Given the description of an element on the screen output the (x, y) to click on. 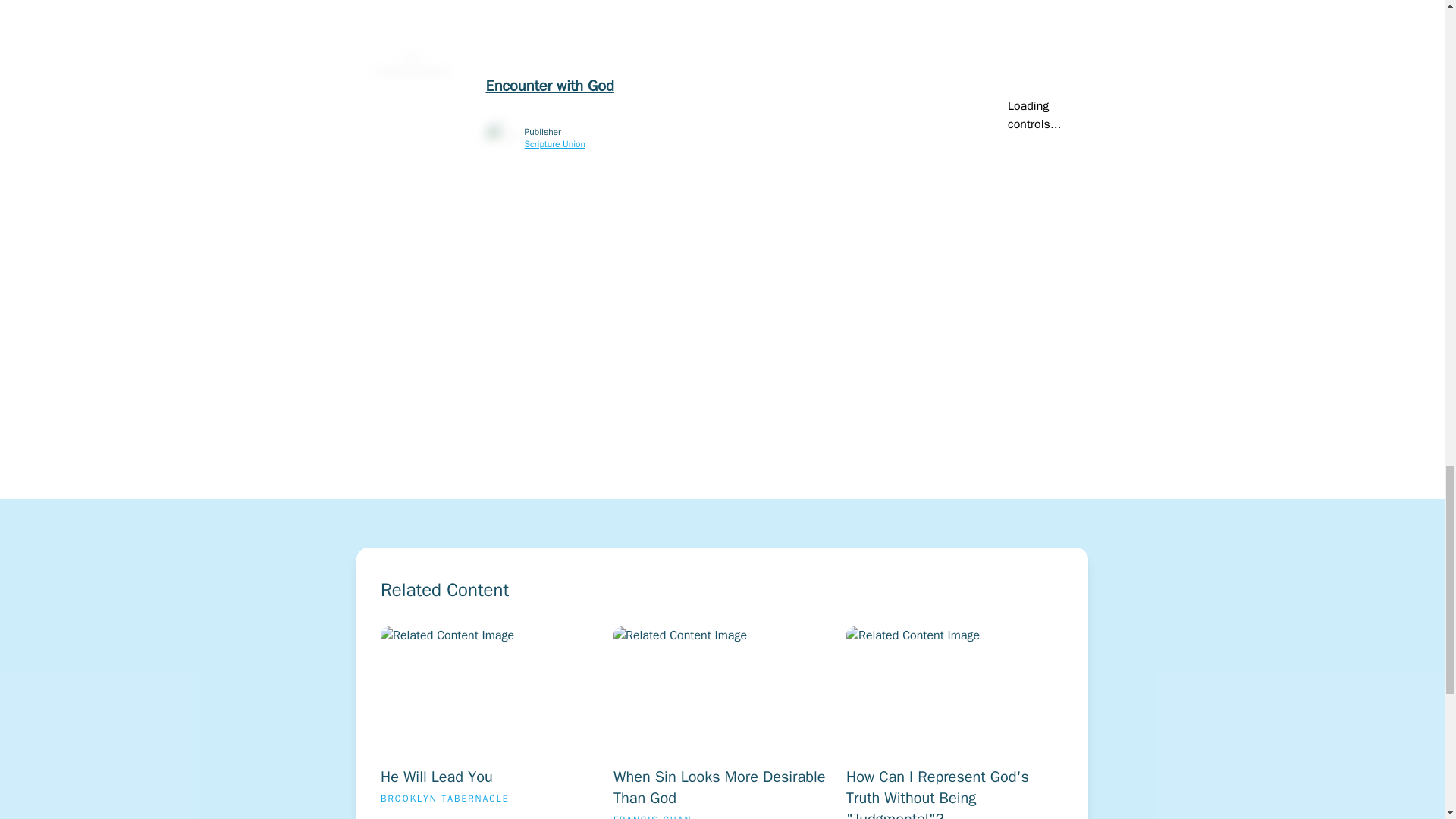
Scripture Union (555, 143)
Encounter with God (489, 722)
